Given the description of an element on the screen output the (x, y) to click on. 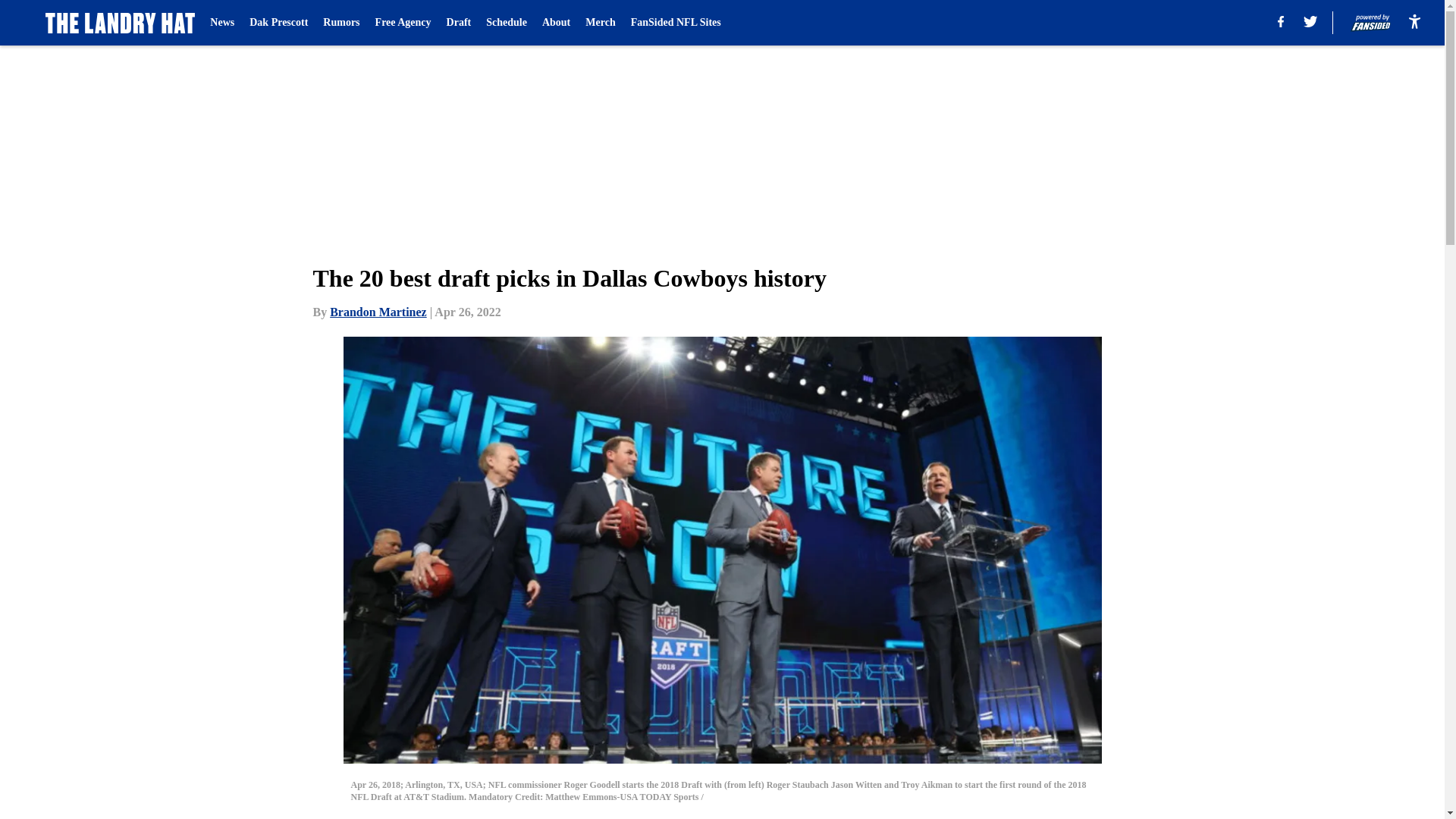
Free Agency (402, 22)
FanSided NFL Sites (675, 22)
Brandon Martinez (378, 311)
Rumors (341, 22)
Schedule (506, 22)
Draft (458, 22)
News (221, 22)
Dak Prescott (277, 22)
About (555, 22)
Merch (599, 22)
